Given the description of an element on the screen output the (x, y) to click on. 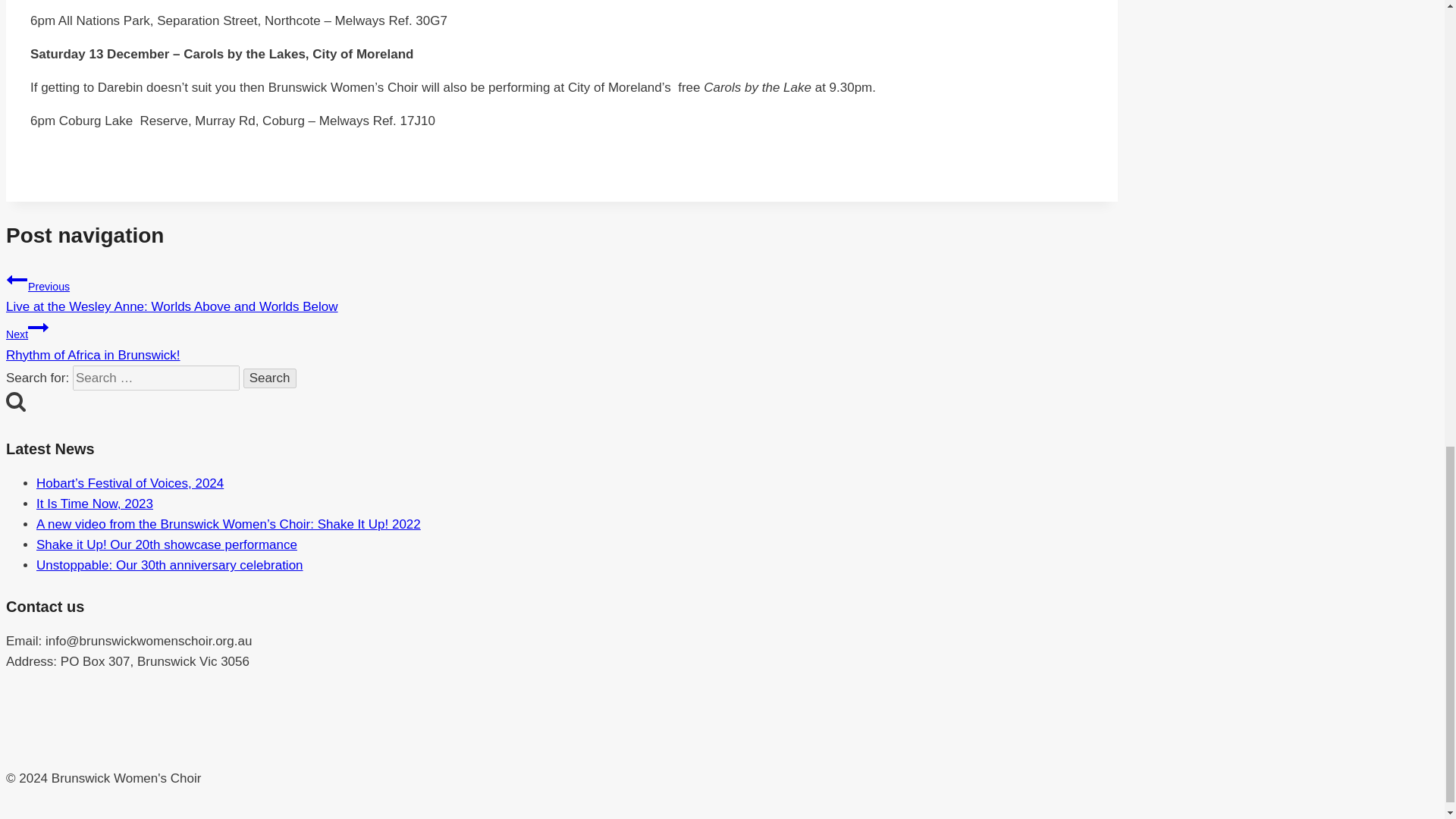
Search (270, 378)
Search (270, 378)
It Is Time Now, 2023 (94, 503)
Unstoppable: Our 30th anniversary celebration (169, 564)
Continue (37, 327)
Search (15, 400)
Previous (16, 279)
Search (270, 378)
